Given the description of an element on the screen output the (x, y) to click on. 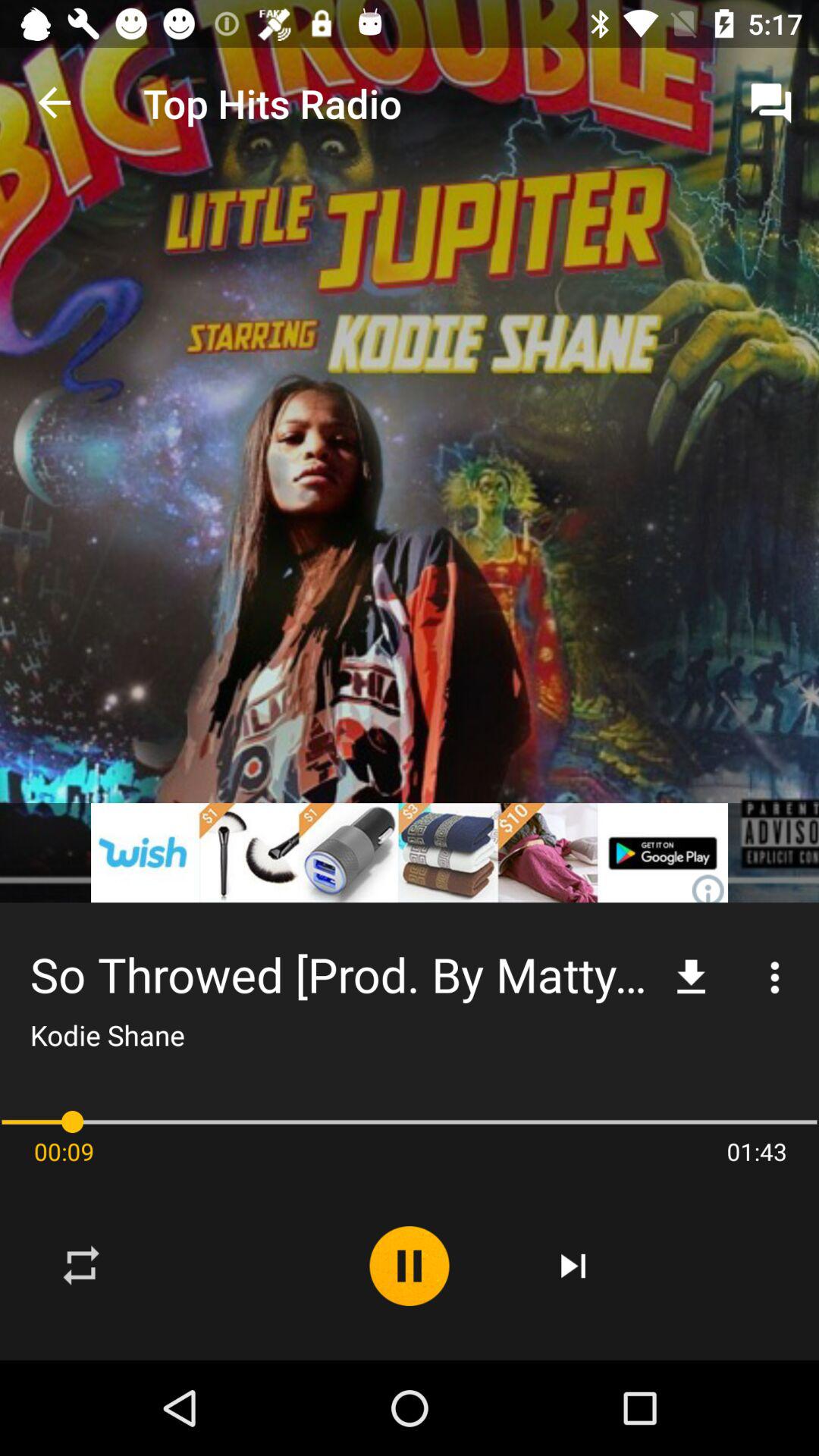
turn on item below the 00:09 item (81, 1265)
